Given the description of an element on the screen output the (x, y) to click on. 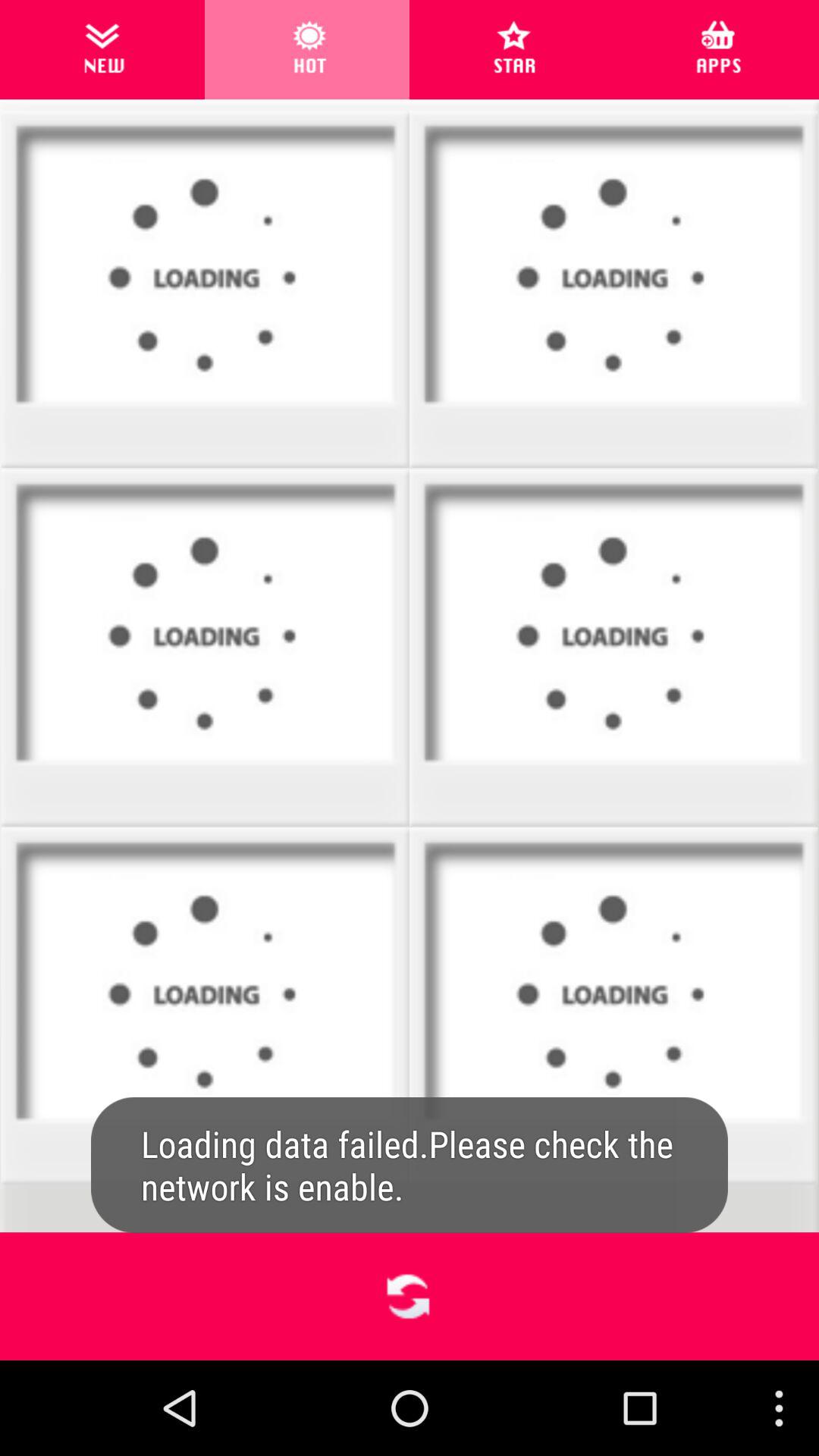
update result (409, 1296)
